Given the description of an element on the screen output the (x, y) to click on. 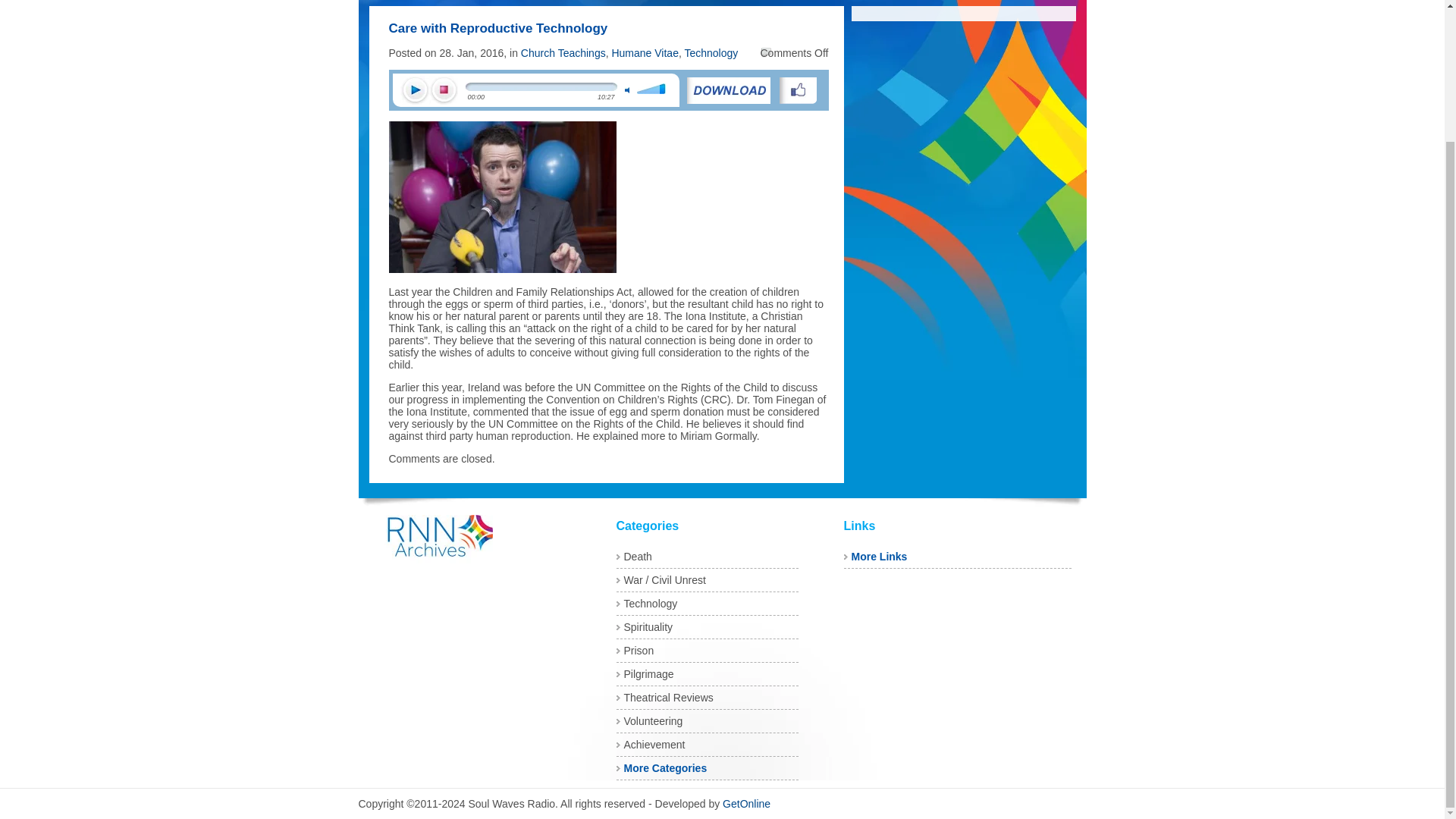
Pilgrimage (647, 674)
Achievement (653, 744)
Technology (711, 52)
View all posts in Technology (650, 603)
View all posts in Spirituality (647, 626)
More Links (878, 556)
View all posts in Volunteering (652, 720)
Prison (638, 650)
View all posts in Prison (638, 650)
GetOnline (746, 803)
Spirituality (647, 626)
Right click to Download File (728, 90)
More Categories (664, 767)
Humane Vitae (644, 52)
Volunteering (652, 720)
